Given the description of an element on the screen output the (x, y) to click on. 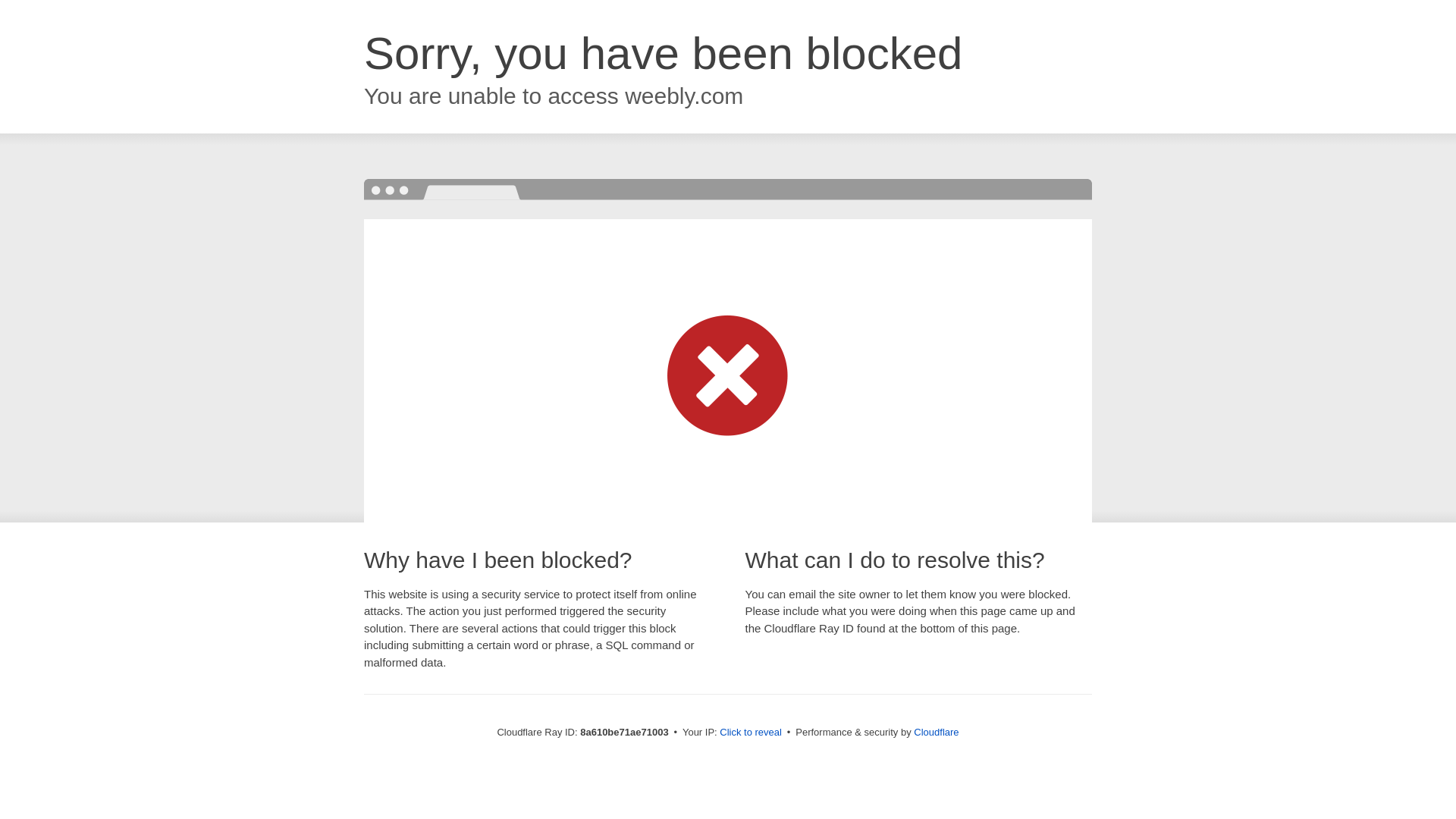
Cloudflare (936, 731)
Click to reveal (750, 732)
